Given the description of an element on the screen output the (x, y) to click on. 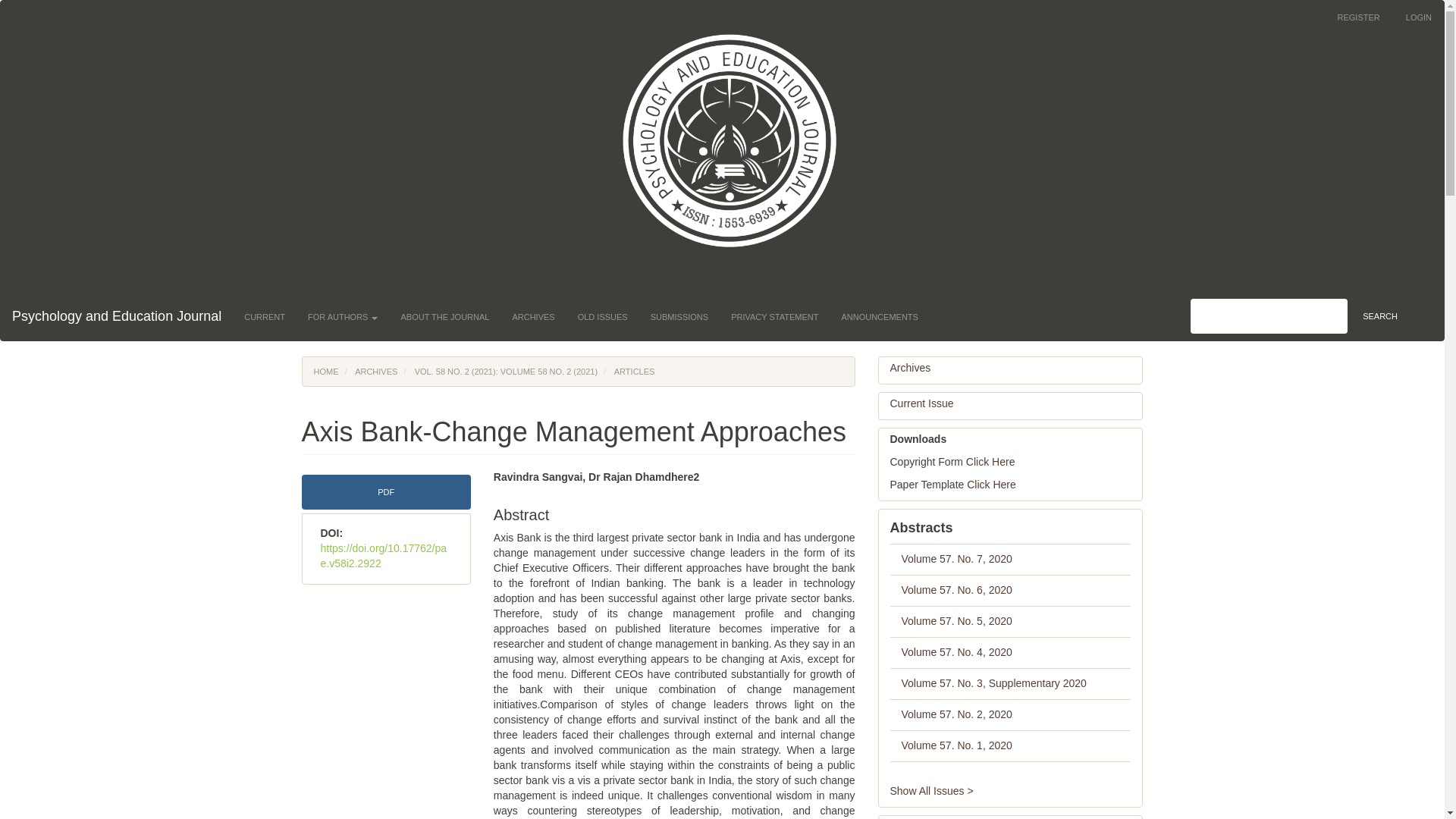
Volume 57. No. 2, 2020 (956, 714)
Volume 57. No. 3, Supplementary 2020 (993, 683)
Click Here (991, 484)
SEARCH (1380, 315)
Volume 57. No. 5, 2020 (956, 621)
PRIVACY STATEMENT (774, 316)
LOGIN (1418, 17)
ARCHIVES (533, 316)
ANNOUNCEMENTS (878, 316)
ABOUT THE JOURNAL (444, 316)
FOR AUTHORS (343, 316)
SUBMISSIONS (679, 316)
OLD ISSUES (602, 316)
REGISTER (1357, 17)
Volume 57. No. 6, 2020 (956, 589)
